Given the description of an element on the screen output the (x, y) to click on. 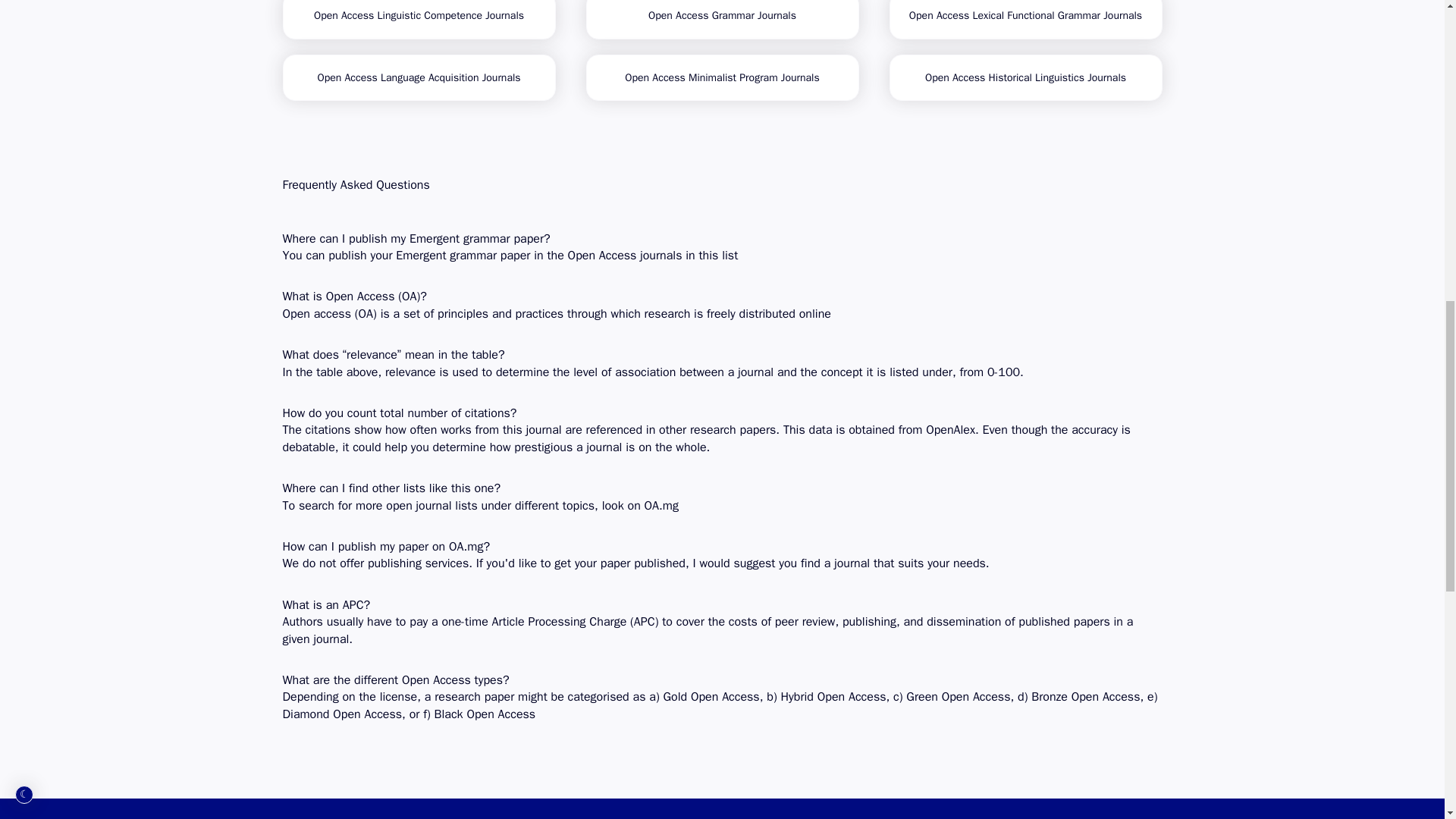
Open Access Linguistic Competence Journals (418, 19)
Open Access Lexical Functional Grammar Journals (1024, 19)
Open Access Historical Linguistics Journals (1024, 77)
Open Access Language Acquisition Journals (418, 77)
Open Access Grammar Journals (722, 19)
Open Access Minimalist Program Journals (722, 77)
